Given the description of an element on the screen output the (x, y) to click on. 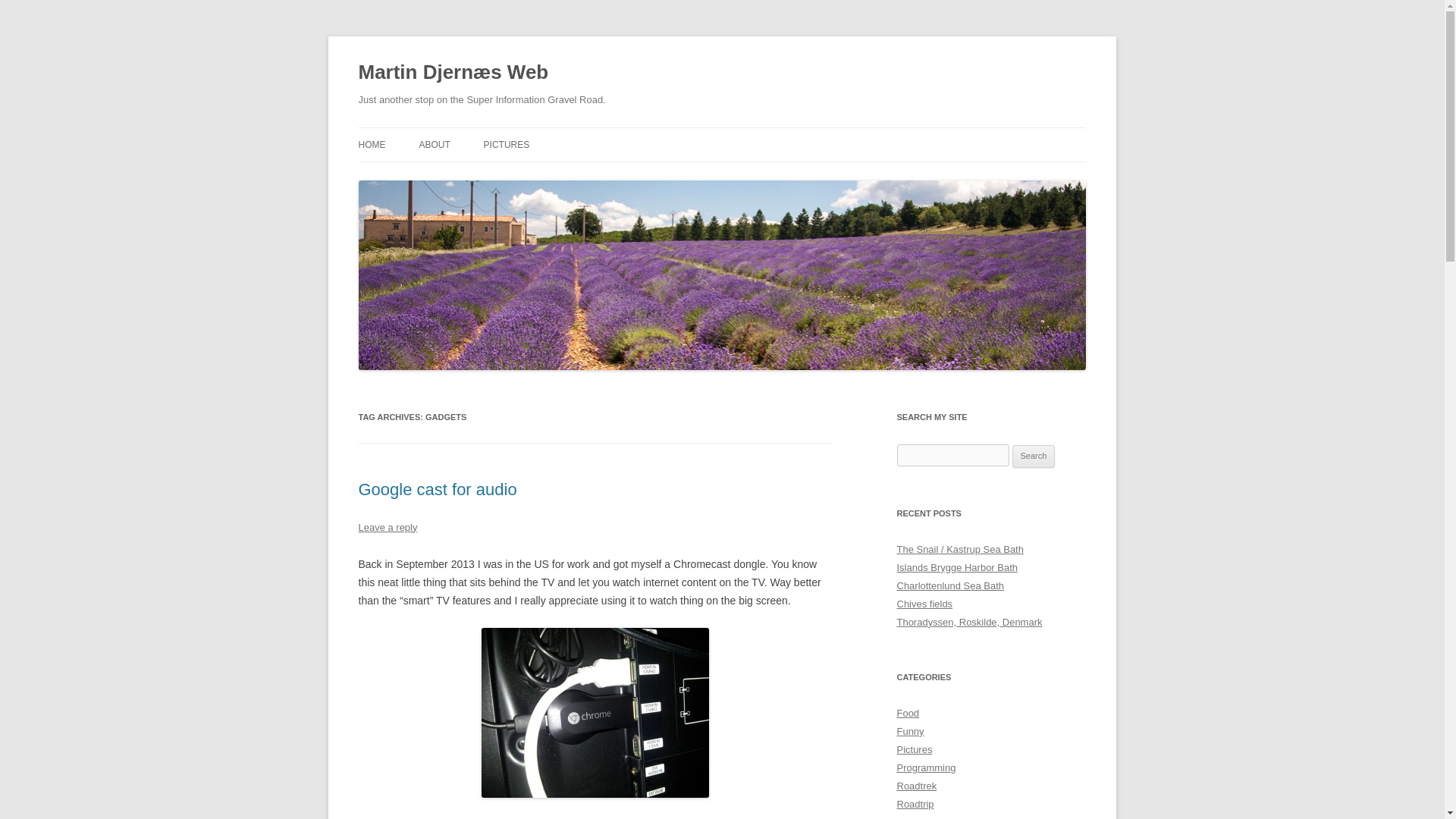
PICTURES (506, 144)
ABOUT (434, 144)
Leave a reply (387, 527)
Google cast for audio (437, 488)
Search (1033, 456)
